Given the description of an element on the screen output the (x, y) to click on. 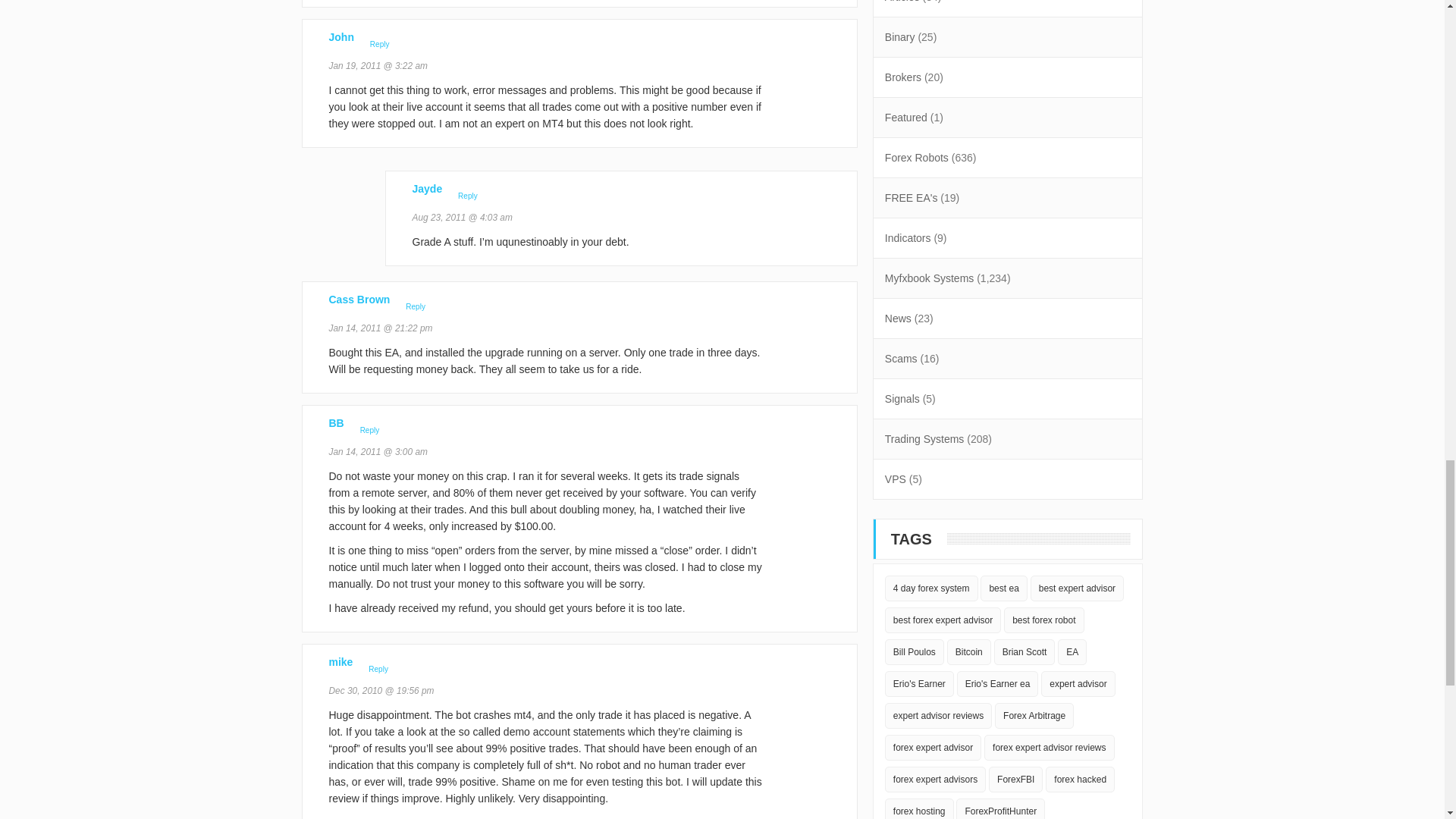
Reply (378, 668)
Reply (379, 44)
Reply (414, 306)
Reply (466, 195)
Reply (369, 430)
